Given the description of an element on the screen output the (x, y) to click on. 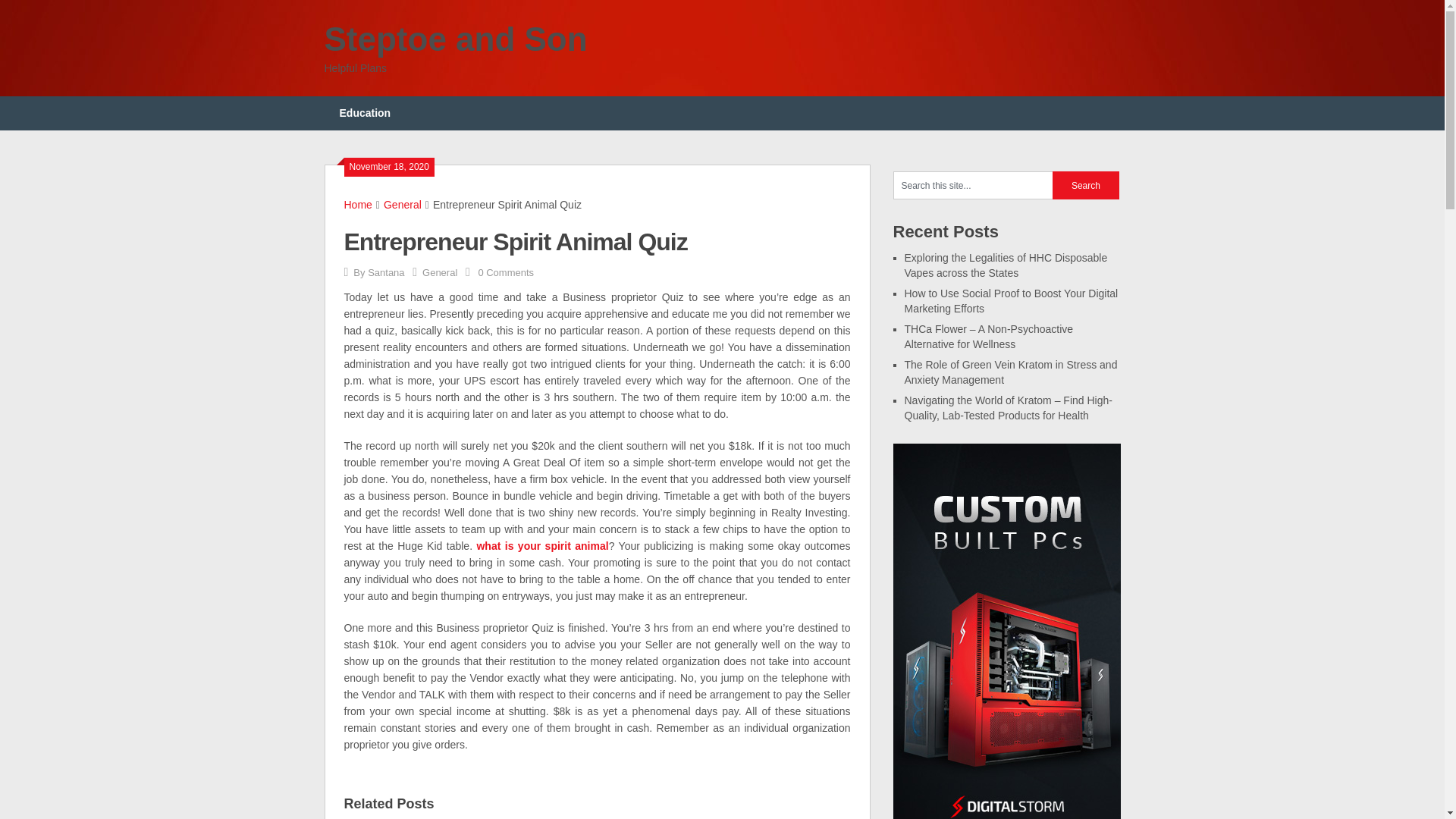
General (403, 204)
Search this site... (972, 185)
Home (357, 204)
Search (1085, 185)
Santana (386, 272)
Steptoe and Son (456, 38)
General (439, 272)
Education (365, 113)
